Given the description of an element on the screen output the (x, y) to click on. 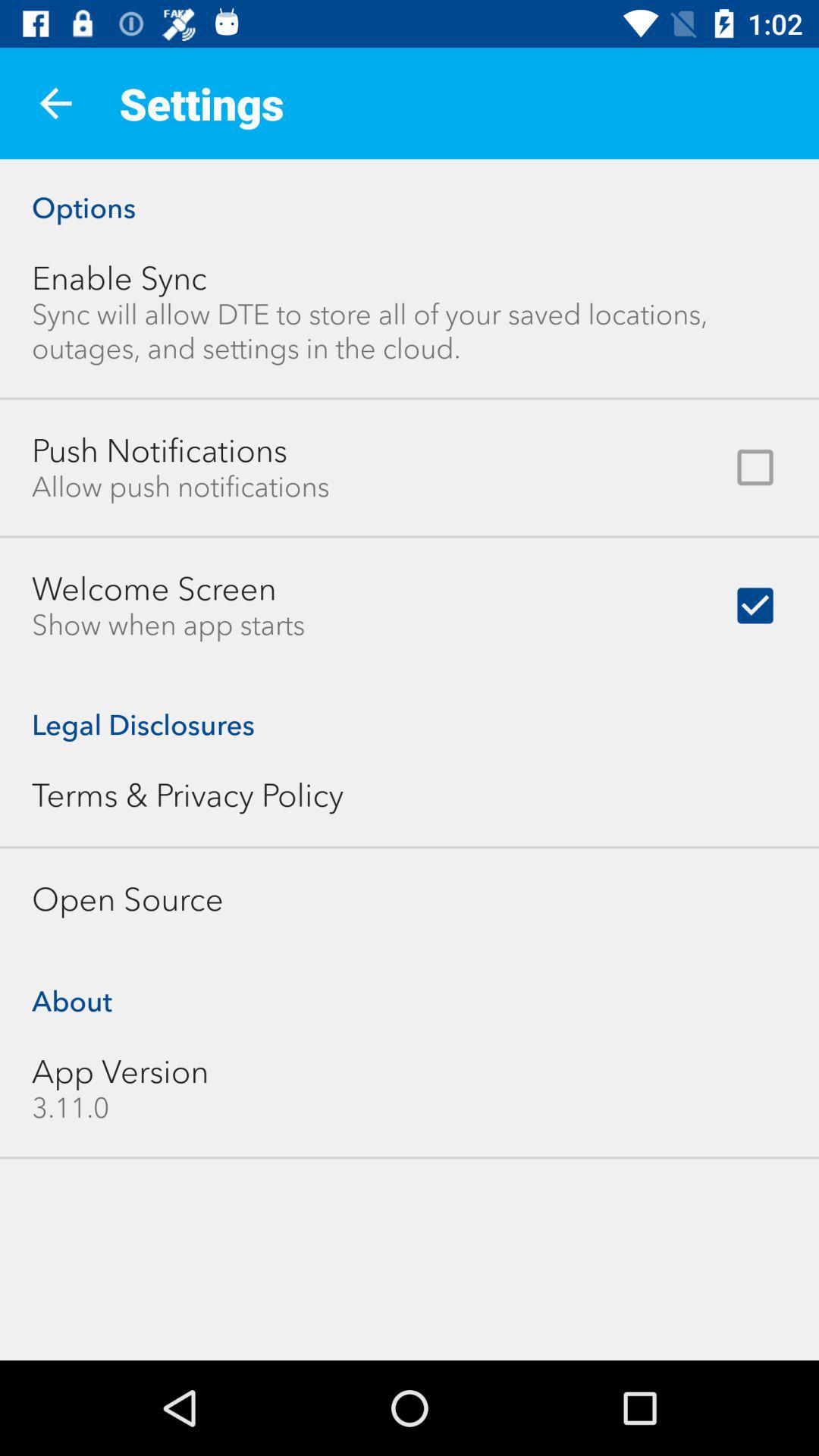
turn on icon above show when app icon (153, 588)
